Given the description of an element on the screen output the (x, y) to click on. 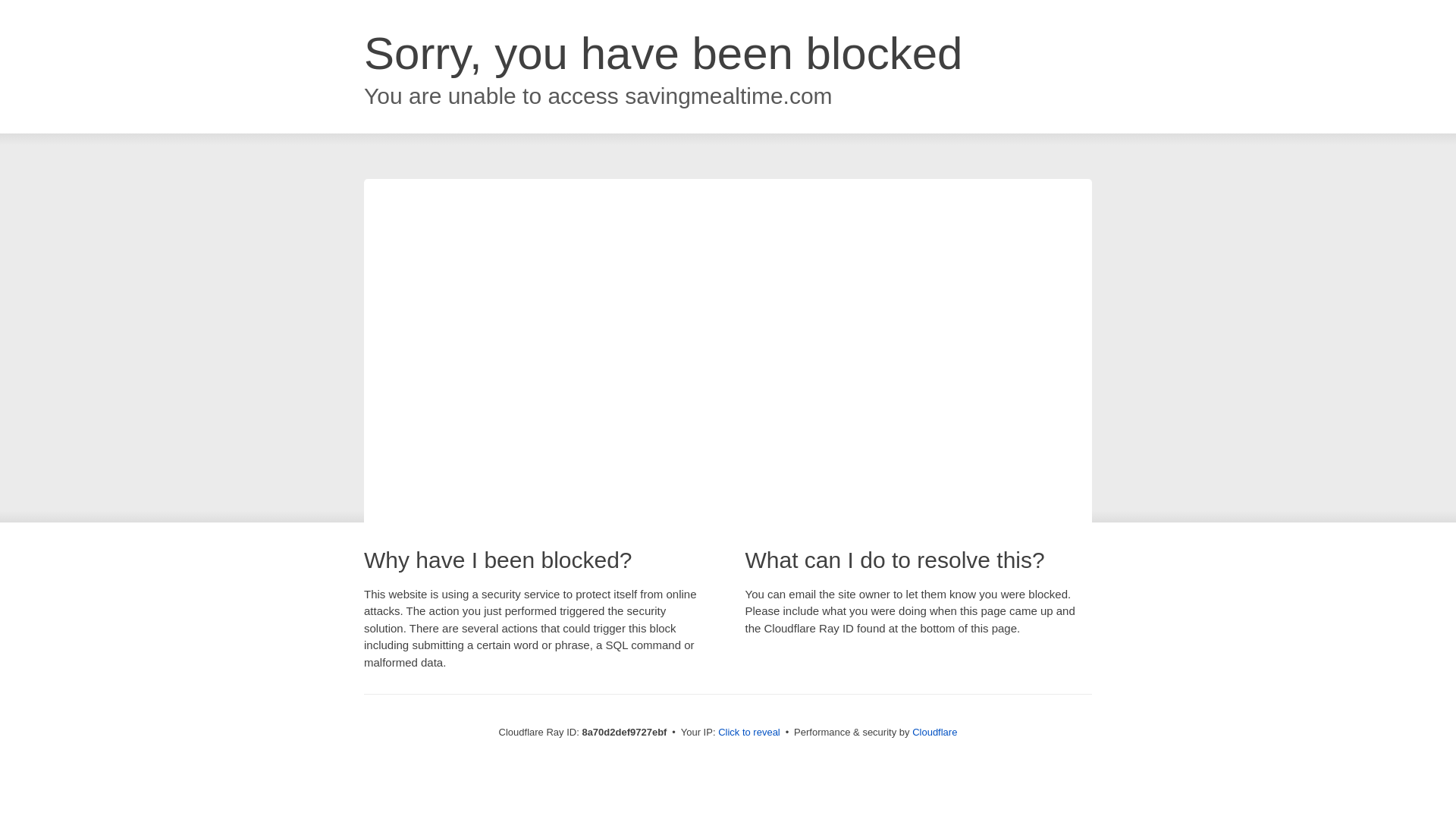
Click to reveal (748, 732)
Cloudflare (934, 731)
